Given the description of an element on the screen output the (x, y) to click on. 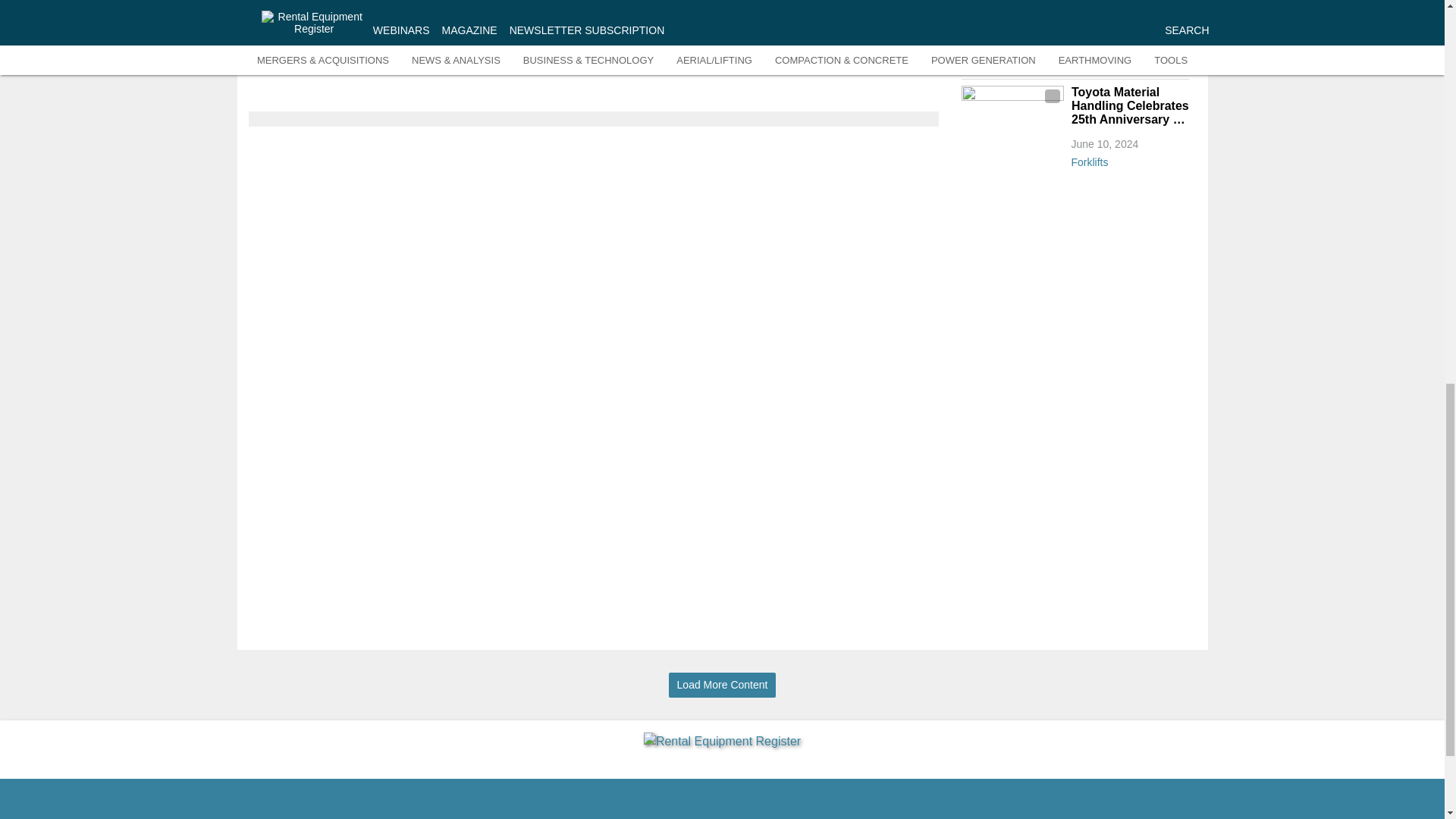
Trailers (1129, 63)
Load More Content (722, 684)
Forklifts (1129, 158)
